Given the description of an element on the screen output the (x, y) to click on. 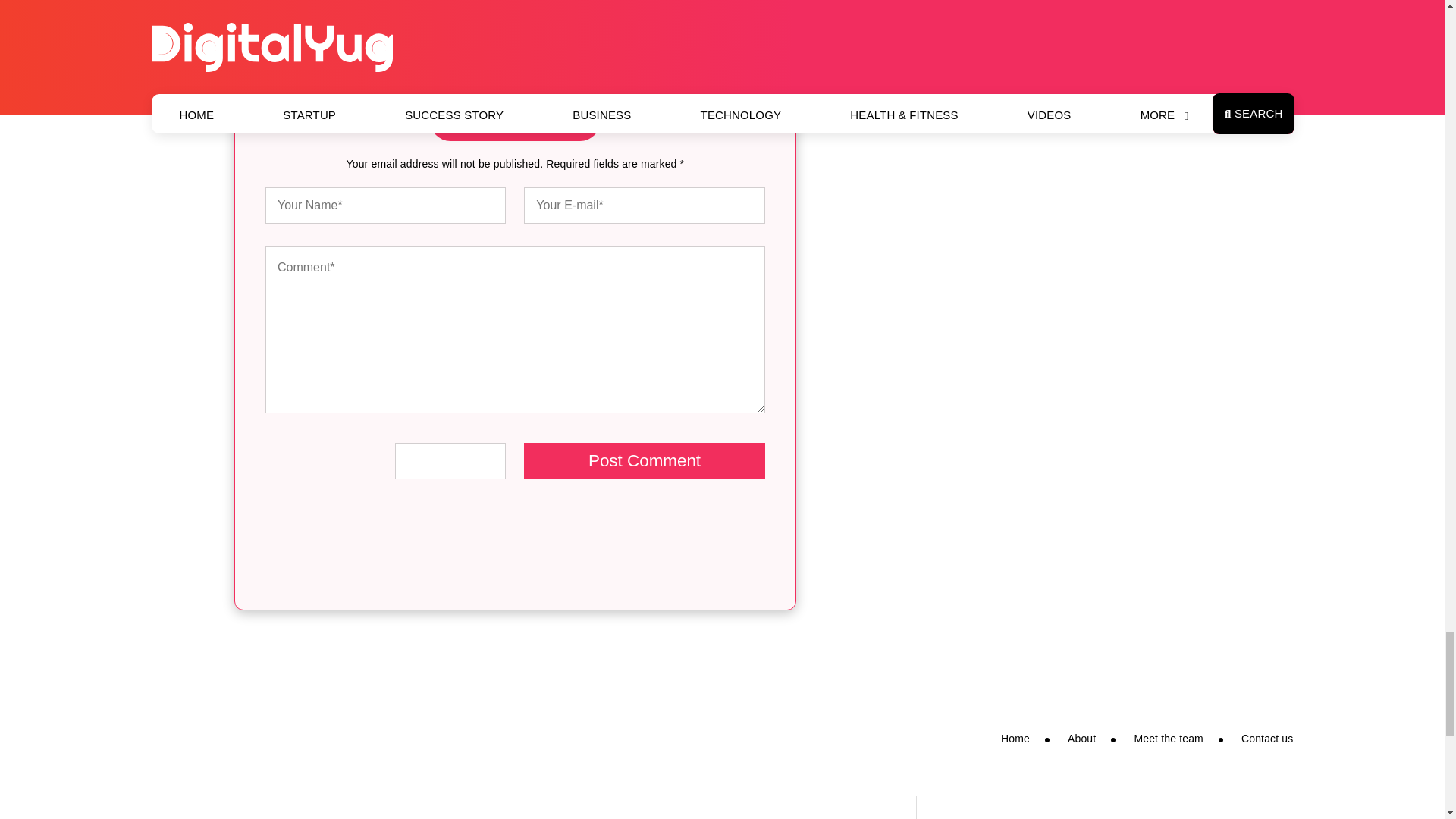
Post Comment (644, 461)
Post Comment (644, 461)
